Given the description of an element on the screen output the (x, y) to click on. 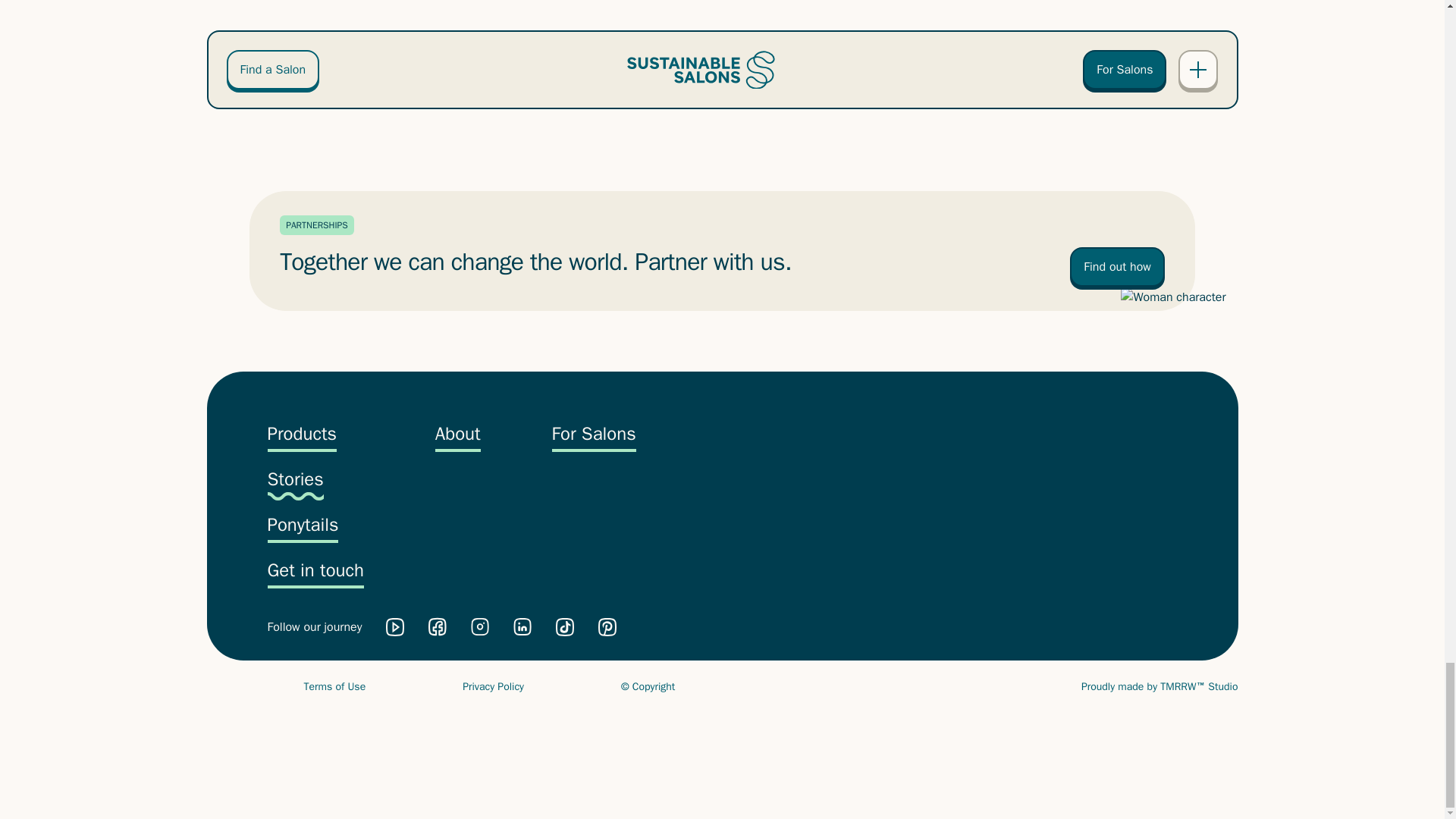
Follow us on Facebook (437, 626)
Follow us on TikTok (564, 627)
Follow us on YouTube (394, 627)
Follow us on Pinterest (606, 627)
Follow us on Instagram (479, 626)
Follow us on LinkedIn (522, 626)
